Given the description of an element on the screen output the (x, y) to click on. 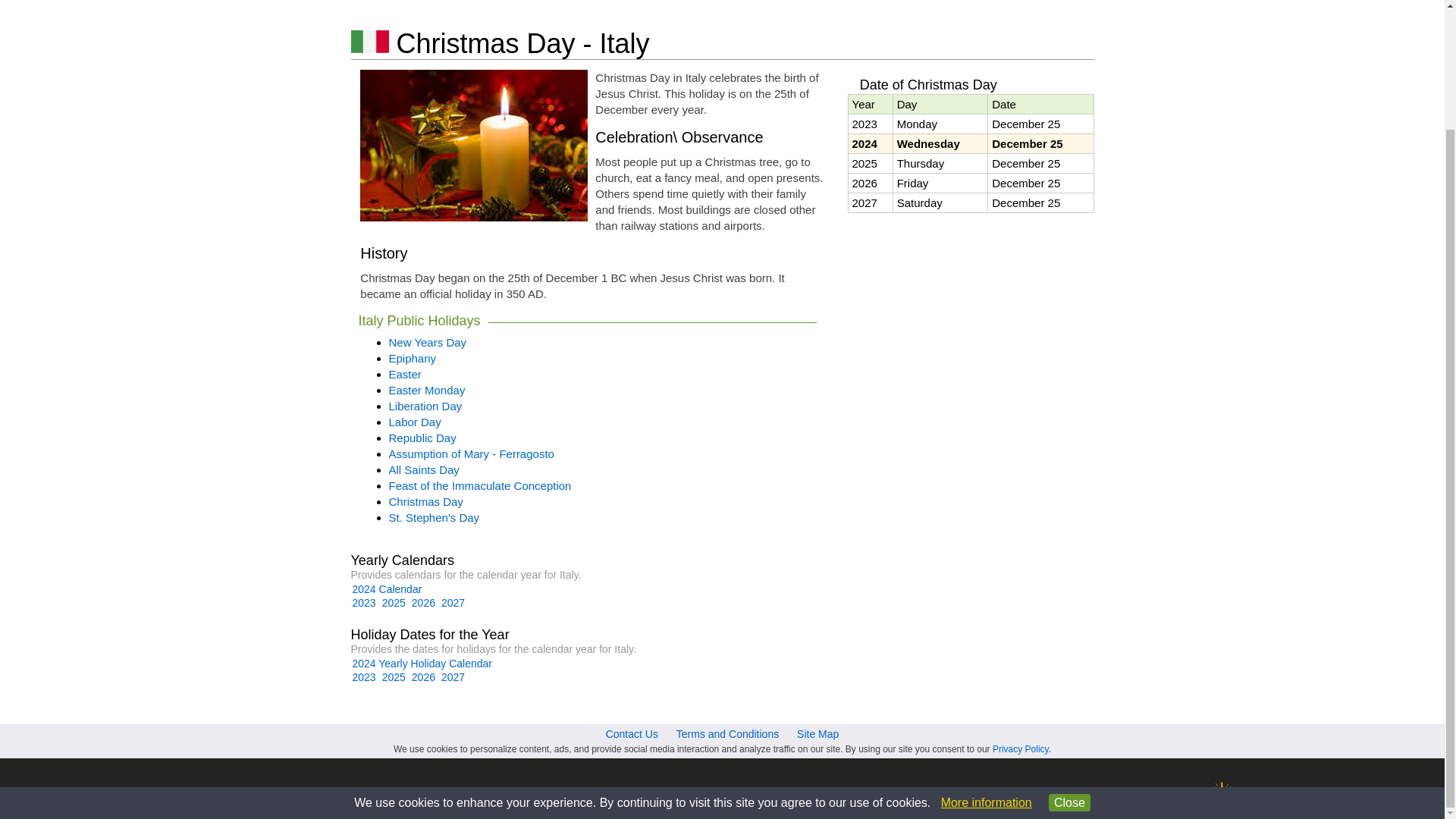
Epiphany (411, 358)
2026 (423, 603)
2024 Calendar (387, 589)
2023 (363, 603)
Easter Monday (426, 390)
2025 (393, 603)
St. Stephen's Day (433, 517)
Labor Day (414, 421)
Christmas Day (425, 501)
2027 (452, 603)
